Given the description of an element on the screen output the (x, y) to click on. 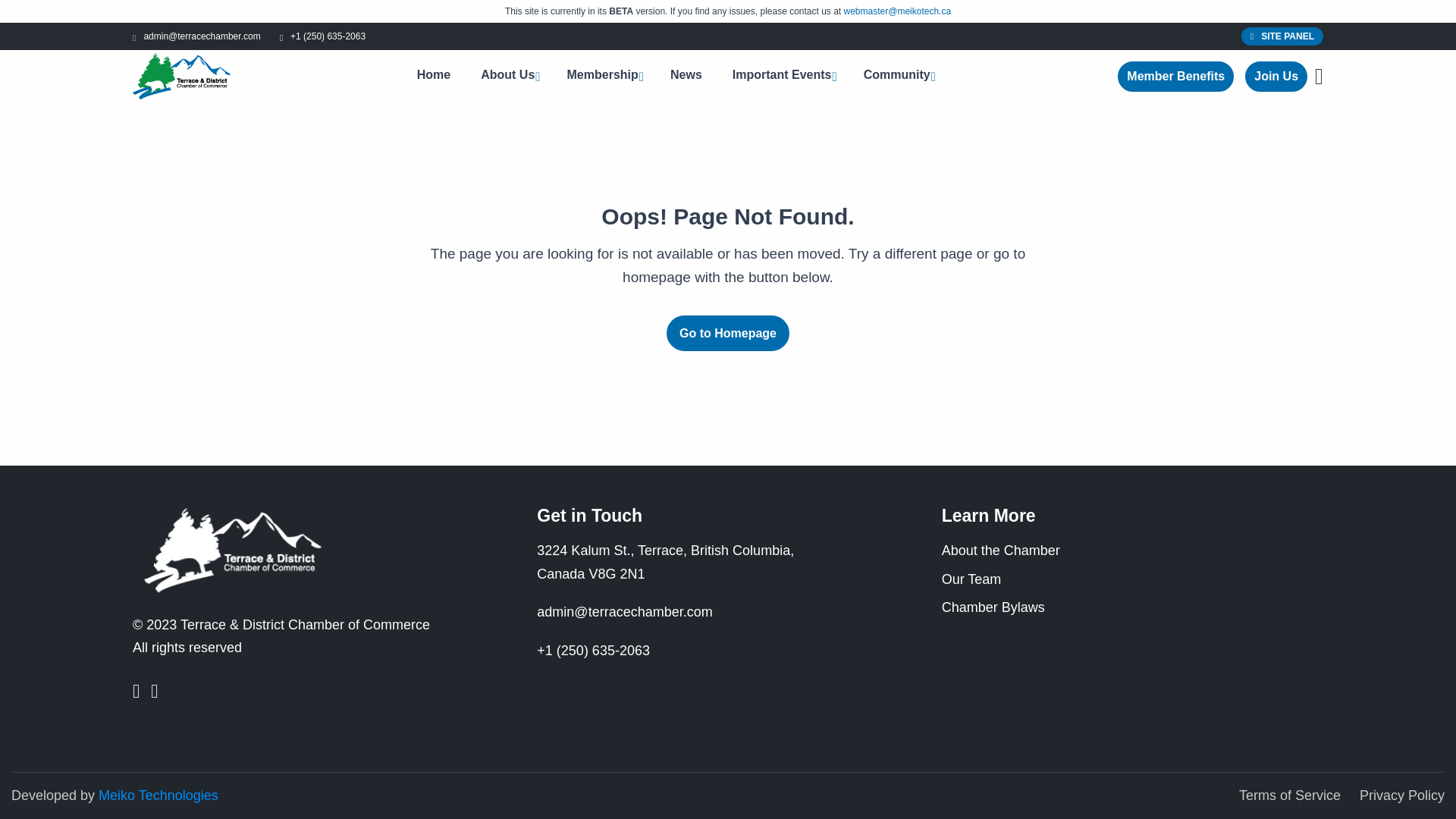
About Us (508, 76)
Go to Homepage (727, 333)
Membership (603, 76)
Home (433, 74)
Chamber Bylaws (993, 607)
Important Events (782, 76)
SITE PANEL (1282, 36)
Community (897, 76)
3224 Kalum St., Terrace, British Columbia, Canada V8G 2N1 (665, 561)
News (686, 74)
